Given the description of an element on the screen output the (x, y) to click on. 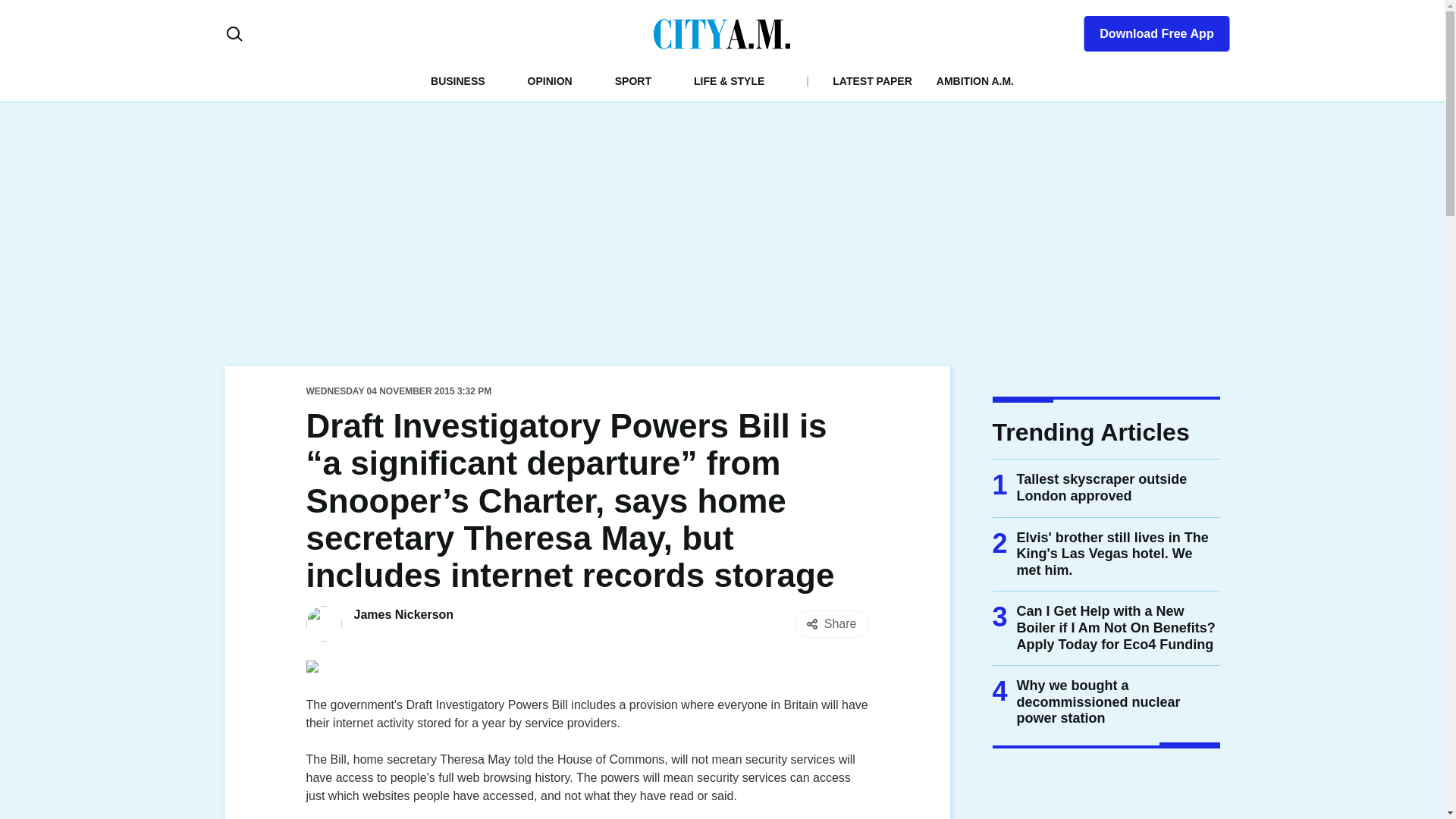
BUSINESS (457, 80)
Download Free App (1146, 30)
SPORT (632, 80)
OPINION (549, 80)
CityAM (721, 33)
